Given the description of an element on the screen output the (x, y) to click on. 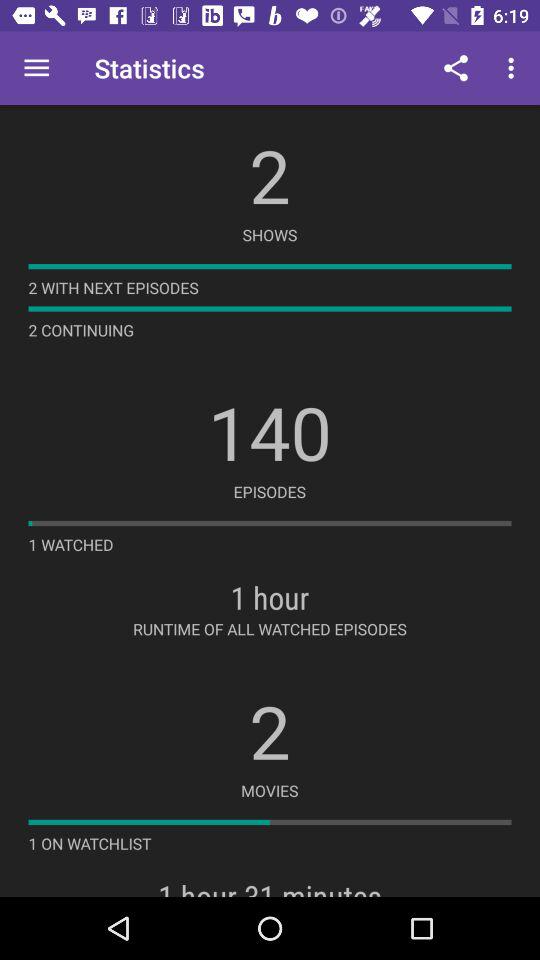
select the icon next to statistics (36, 68)
